Given the description of an element on the screen output the (x, y) to click on. 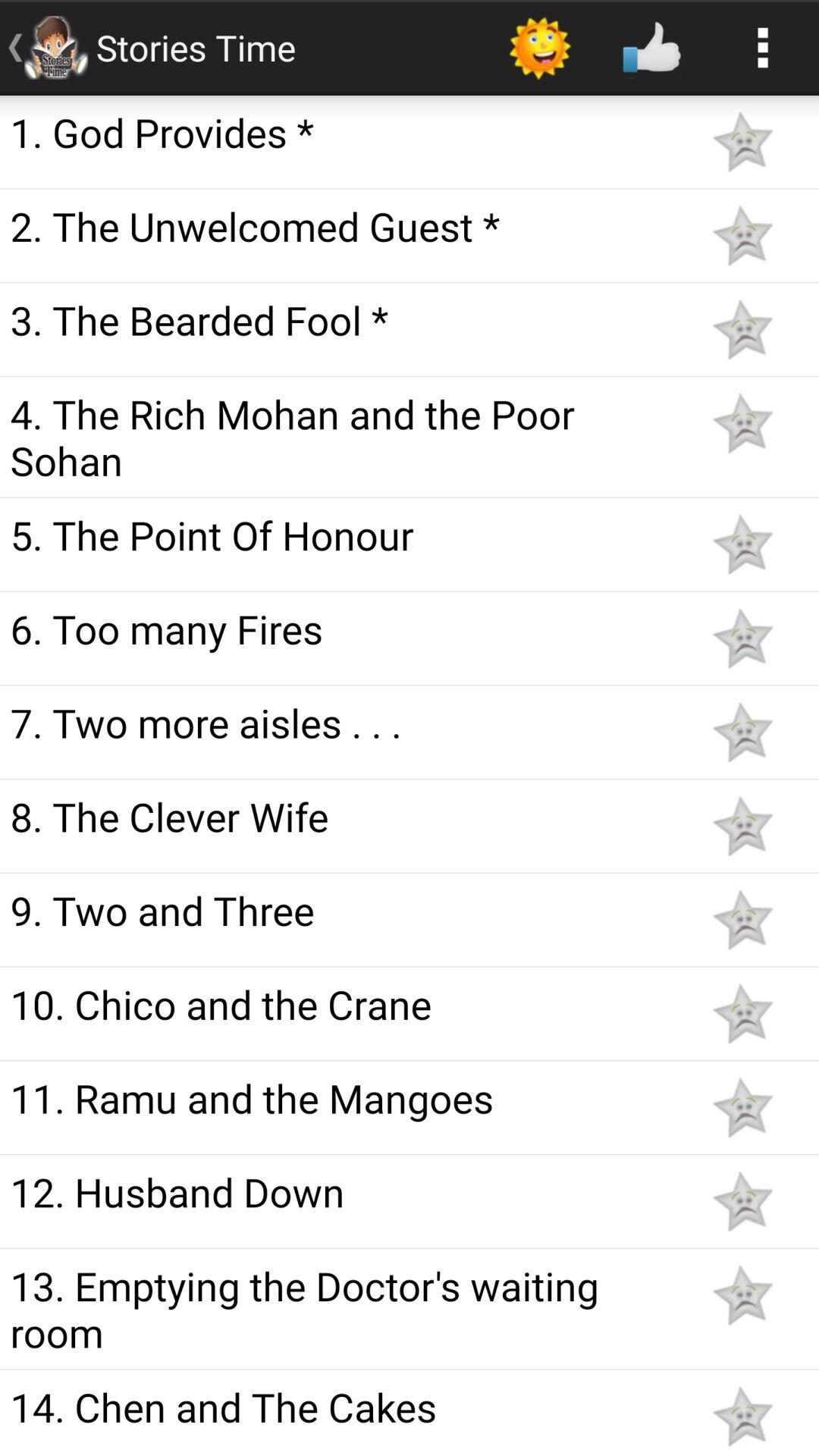
flip until the 1. god provides * icon (343, 131)
